Given the description of an element on the screen output the (x, y) to click on. 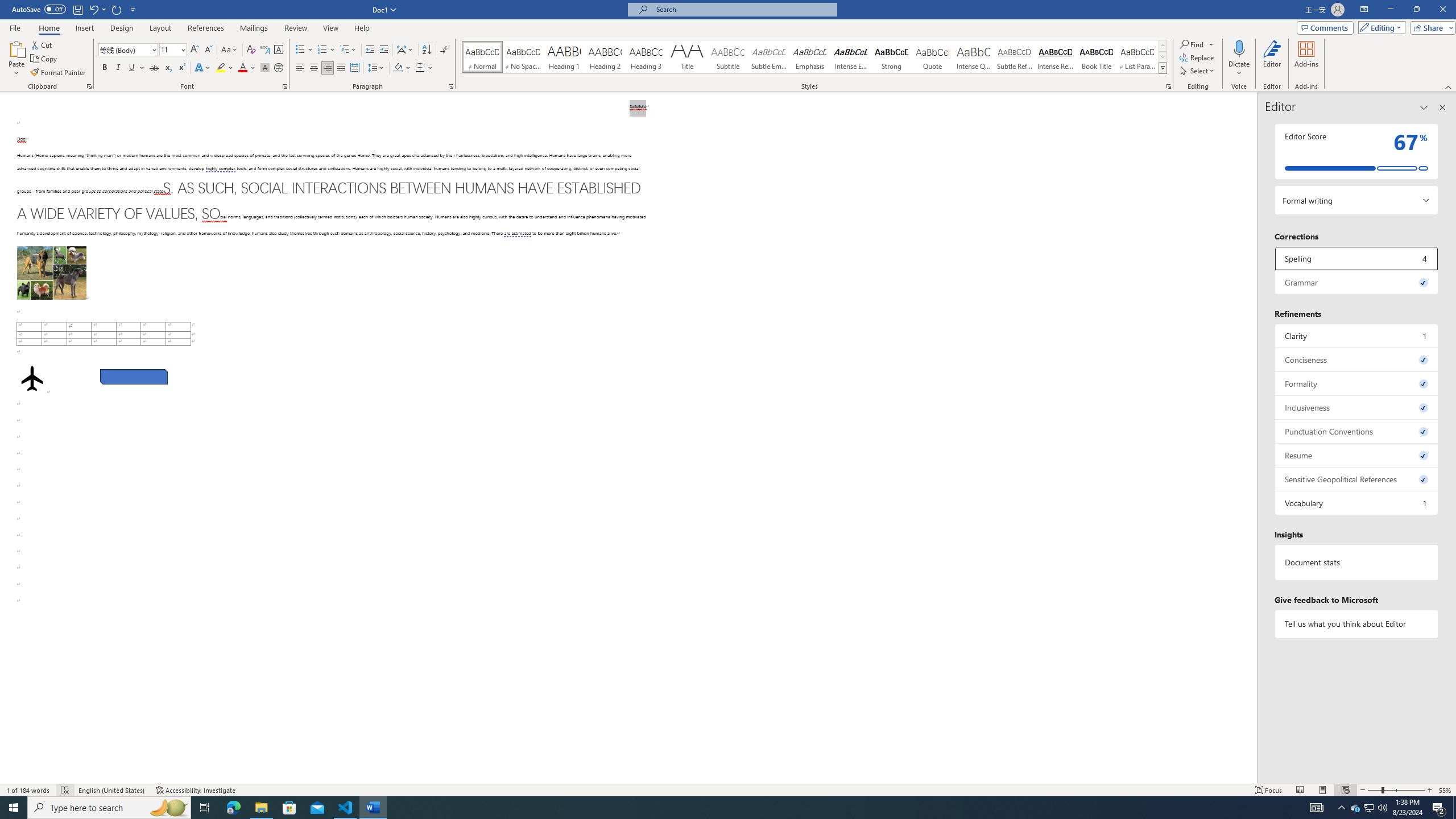
Strong (891, 56)
Intense Reference (1055, 56)
Zoom 55% (1445, 790)
